Given the description of an element on the screen output the (x, y) to click on. 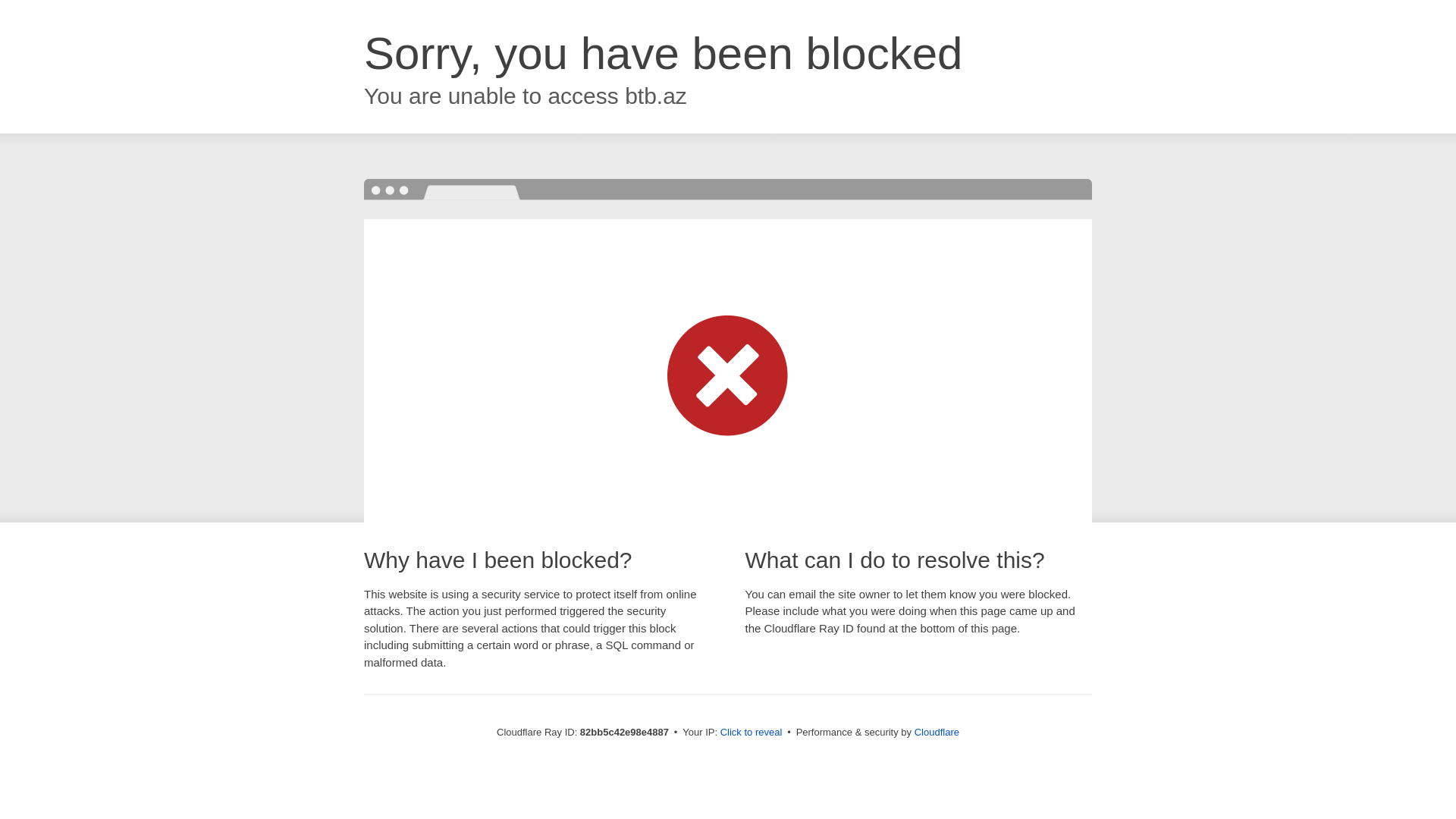
Click to reveal Element type: text (751, 732)
Cloudflare Element type: text (936, 731)
